Given the description of an element on the screen output the (x, y) to click on. 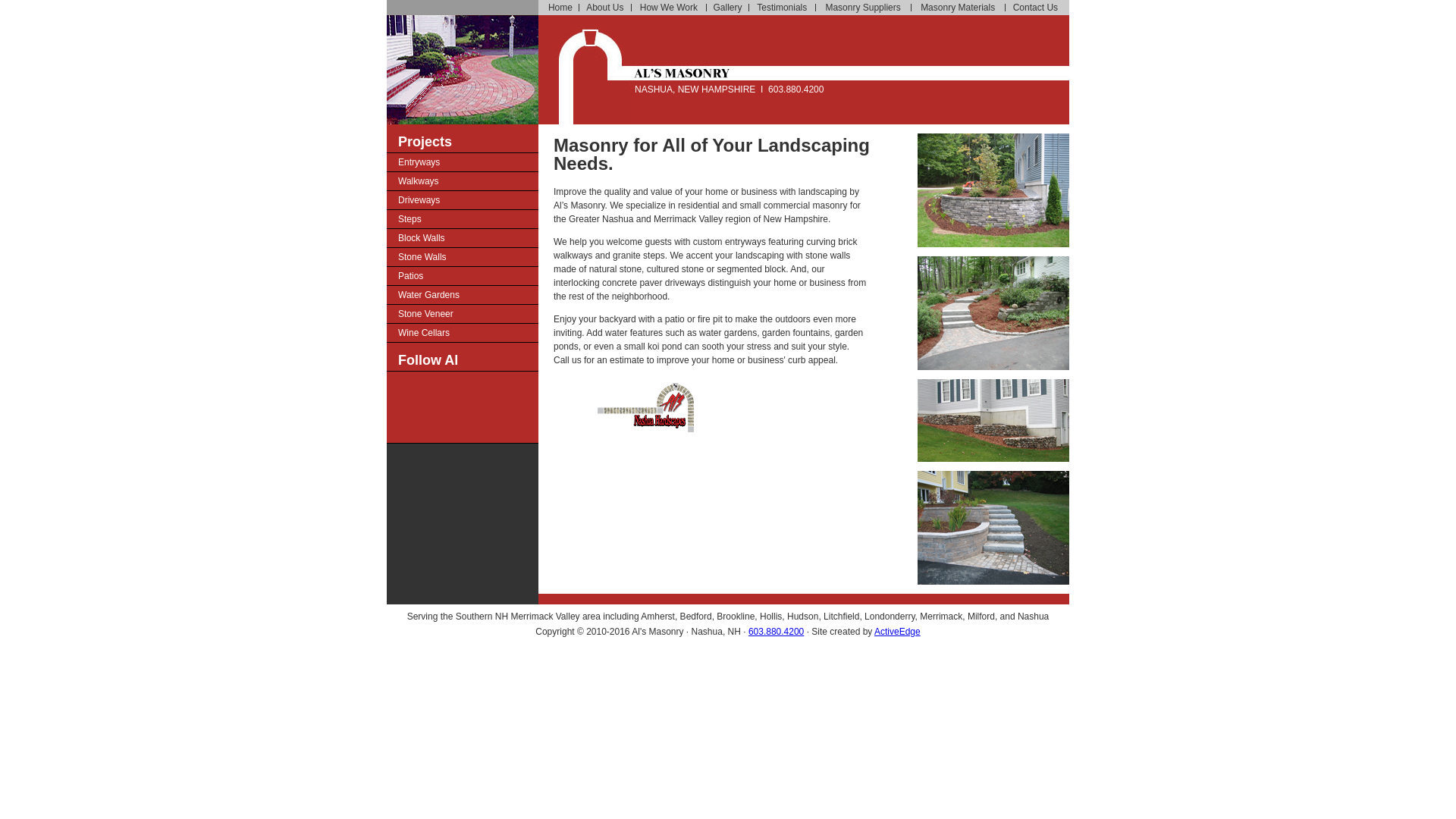
Walkways (462, 180)
Masonry Materials (957, 7)
Contact Us (1035, 7)
About Us (604, 7)
Steps (462, 218)
603.880.4200 (775, 631)
Entryway, Walkway, Steps, Block Walls (992, 366)
Driveways (462, 199)
Patios (462, 275)
Block Walls (462, 238)
